Given the description of an element on the screen output the (x, y) to click on. 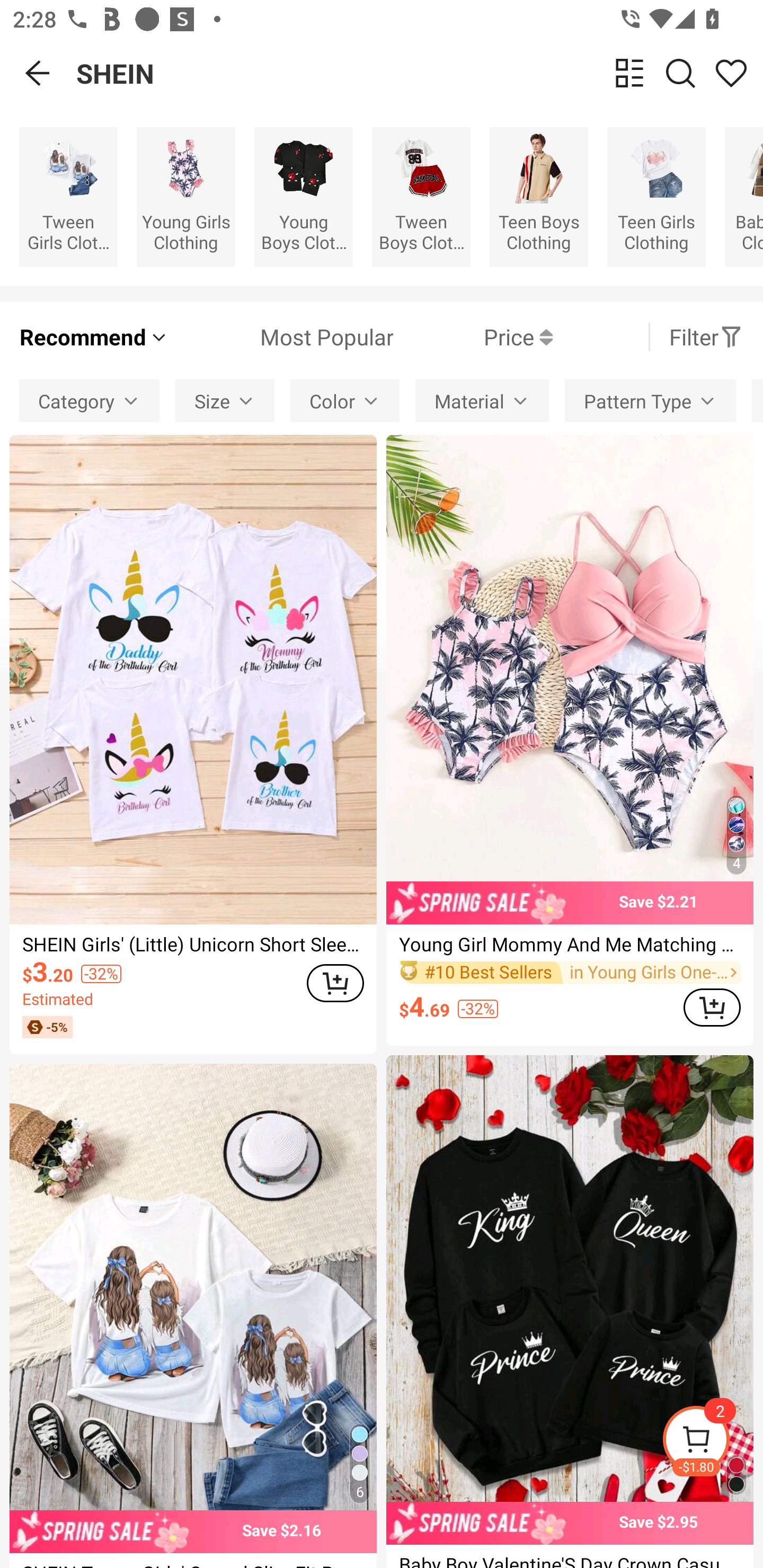
SHEIN change view Search Share (419, 72)
change view (629, 72)
Search (679, 72)
Share (730, 72)
Tween Girls Clothing (68, 196)
Young Girls Clothing (185, 196)
Young Boys Clothing (303, 196)
Tween Boys Clothing (421, 196)
Teen Boys Clothing (538, 196)
Teen Girls Clothing (656, 196)
Recommend (94, 336)
Most Popular (280, 336)
Price (472, 336)
Filter (705, 336)
Category (89, 400)
Size (224, 400)
Color (344, 400)
Material (481, 400)
Pattern Type (650, 400)
#10 Best Sellers in Young Girls One-Pieces (569, 971)
ADD TO CART (334, 982)
ADD TO CART (711, 1007)
-$1.80 (712, 1441)
